Given the description of an element on the screen output the (x, y) to click on. 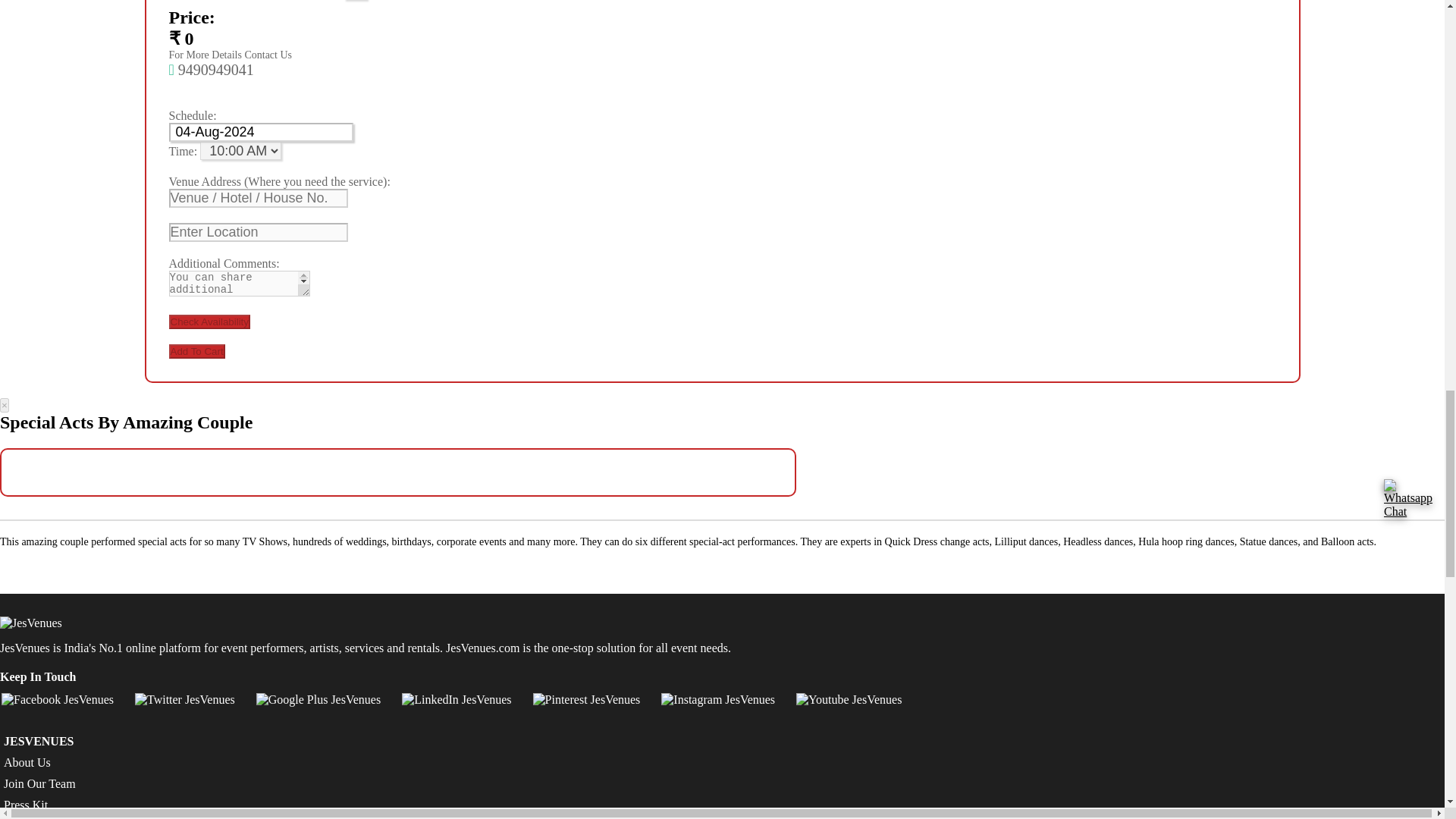
04-Aug-2024 (260, 131)
